Given the description of an element on the screen output the (x, y) to click on. 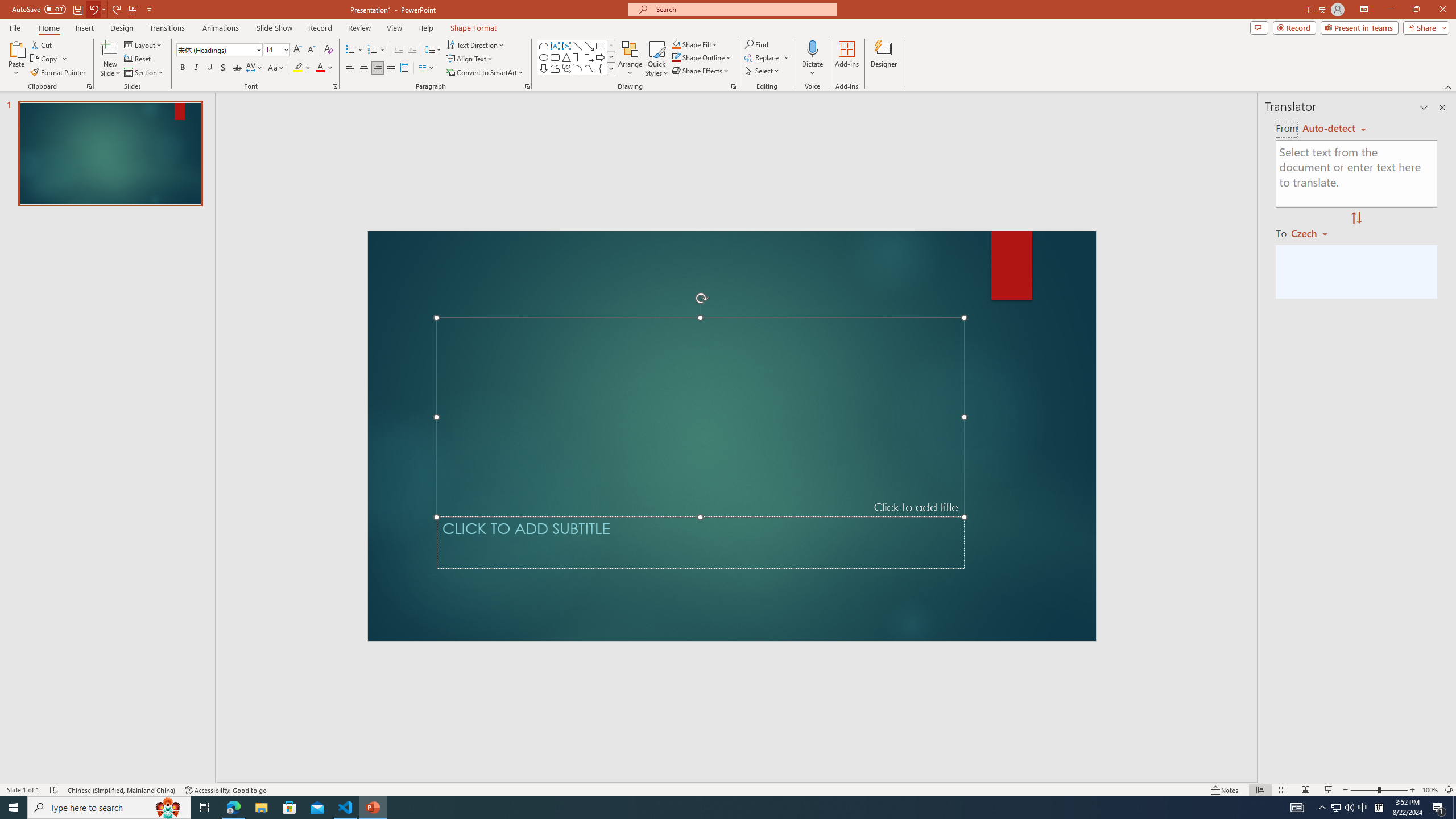
Czech (1313, 232)
